Given the description of an element on the screen output the (x, y) to click on. 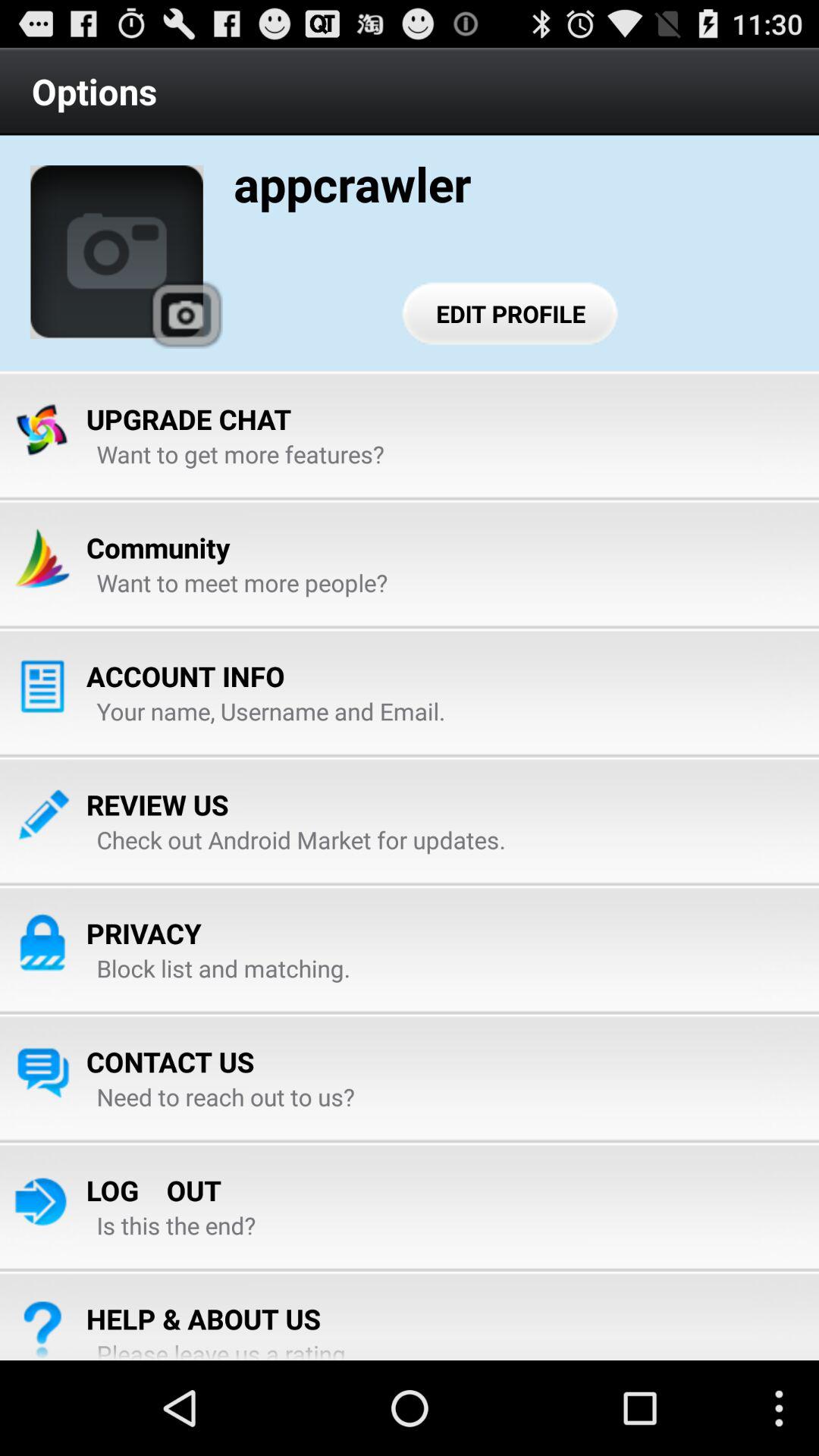
add profile photo (116, 251)
